Given the description of an element on the screen output the (x, y) to click on. 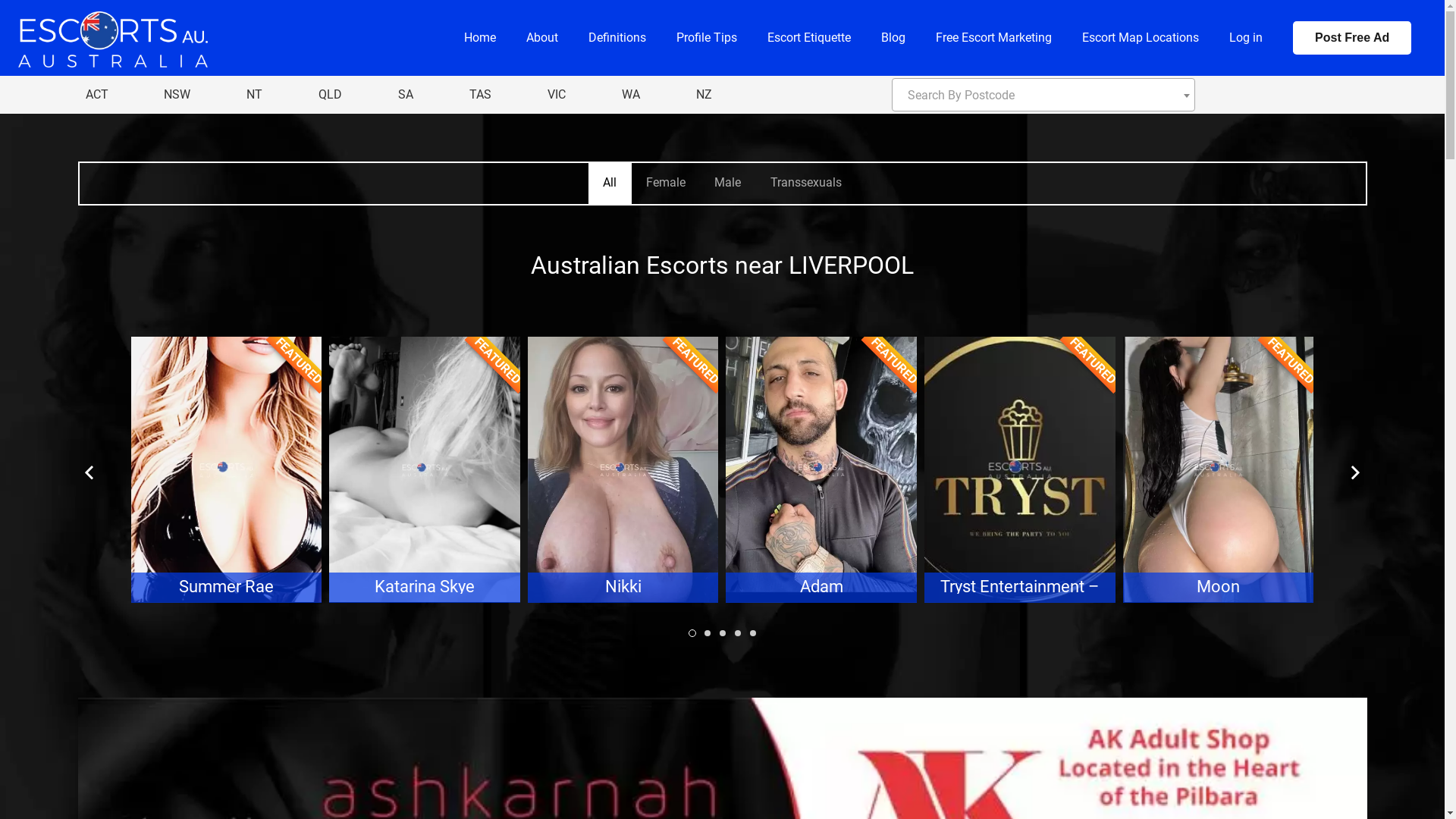
VIC Element type: text (556, 94)
Free Escort Marketing Element type: text (993, 37)
ACT Element type: text (96, 94)
NZ Element type: text (703, 94)
Escort Etiquette Element type: text (809, 37)
NT Element type: text (253, 94)
Transsexuals Element type: text (805, 183)
All Element type: text (609, 183)
TAS Element type: text (479, 94)
Log in Element type: text (1245, 37)
NSW Element type: text (176, 94)
SA Element type: text (405, 94)
Escort Map Locations Element type: text (1140, 37)
Home Element type: text (479, 37)
Profile Tips Element type: text (706, 37)
Female Element type: text (665, 183)
Definitions Element type: text (617, 37)
Male Element type: text (727, 183)
About Element type: text (542, 37)
Post Free Ad Element type: text (1351, 38)
QLD Element type: text (329, 94)
Blog Element type: text (893, 37)
WA Element type: text (630, 94)
